Given the description of an element on the screen output the (x, y) to click on. 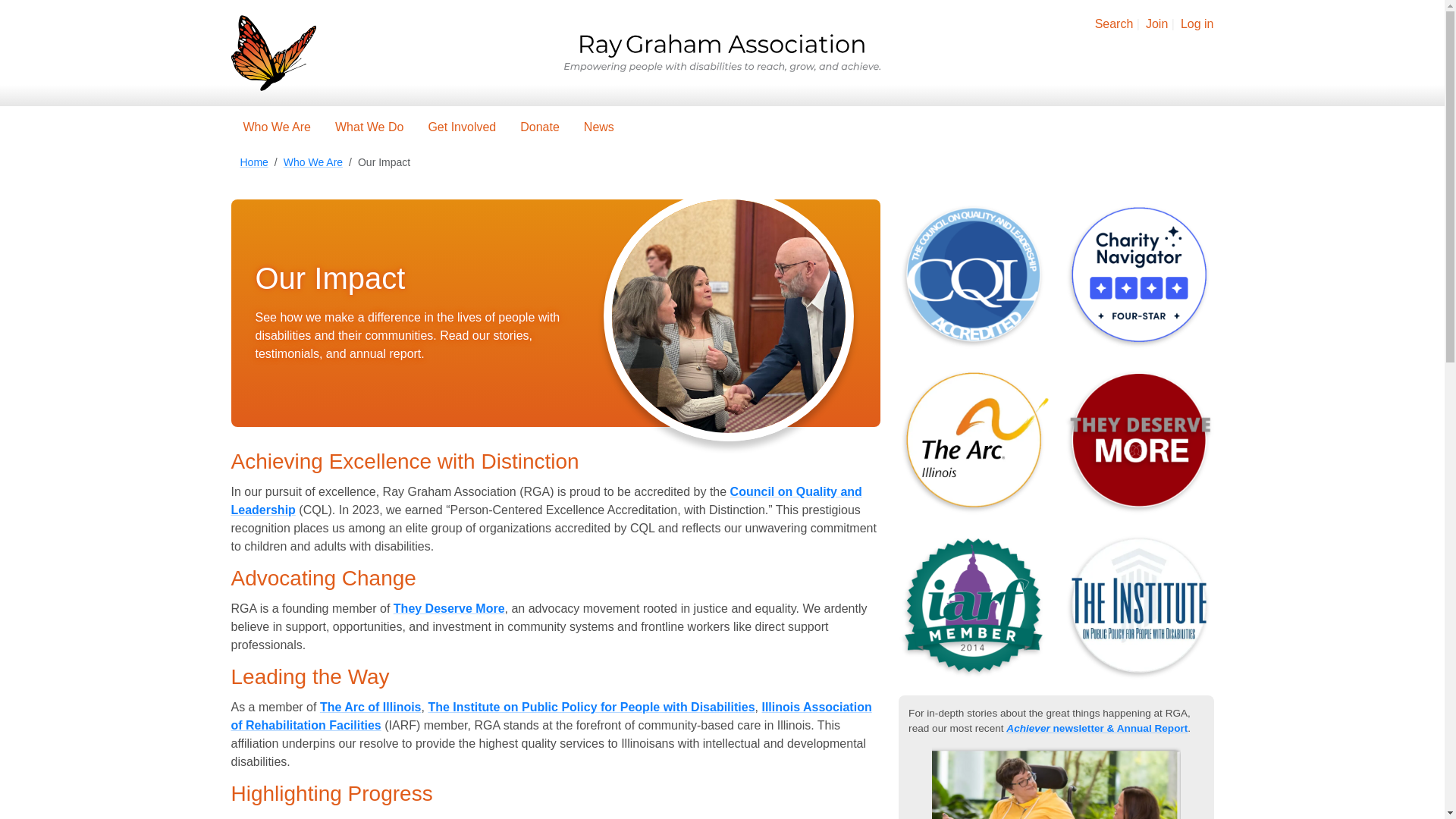
Home (253, 162)
What We Do (368, 127)
Council on Quality and Leadership (545, 500)
Search (1114, 23)
Illinois Association of Rehabilitation Facilities (550, 716)
They Deserve More (449, 608)
News (599, 127)
Who We Are (276, 127)
Join (1156, 23)
The Institute on Public Policy for People with Disabilities (591, 707)
Log in (1197, 23)
Donate (540, 127)
Get Involved (461, 127)
Who We Are (312, 162)
The Arc of Illinois (371, 707)
